Given the description of an element on the screen output the (x, y) to click on. 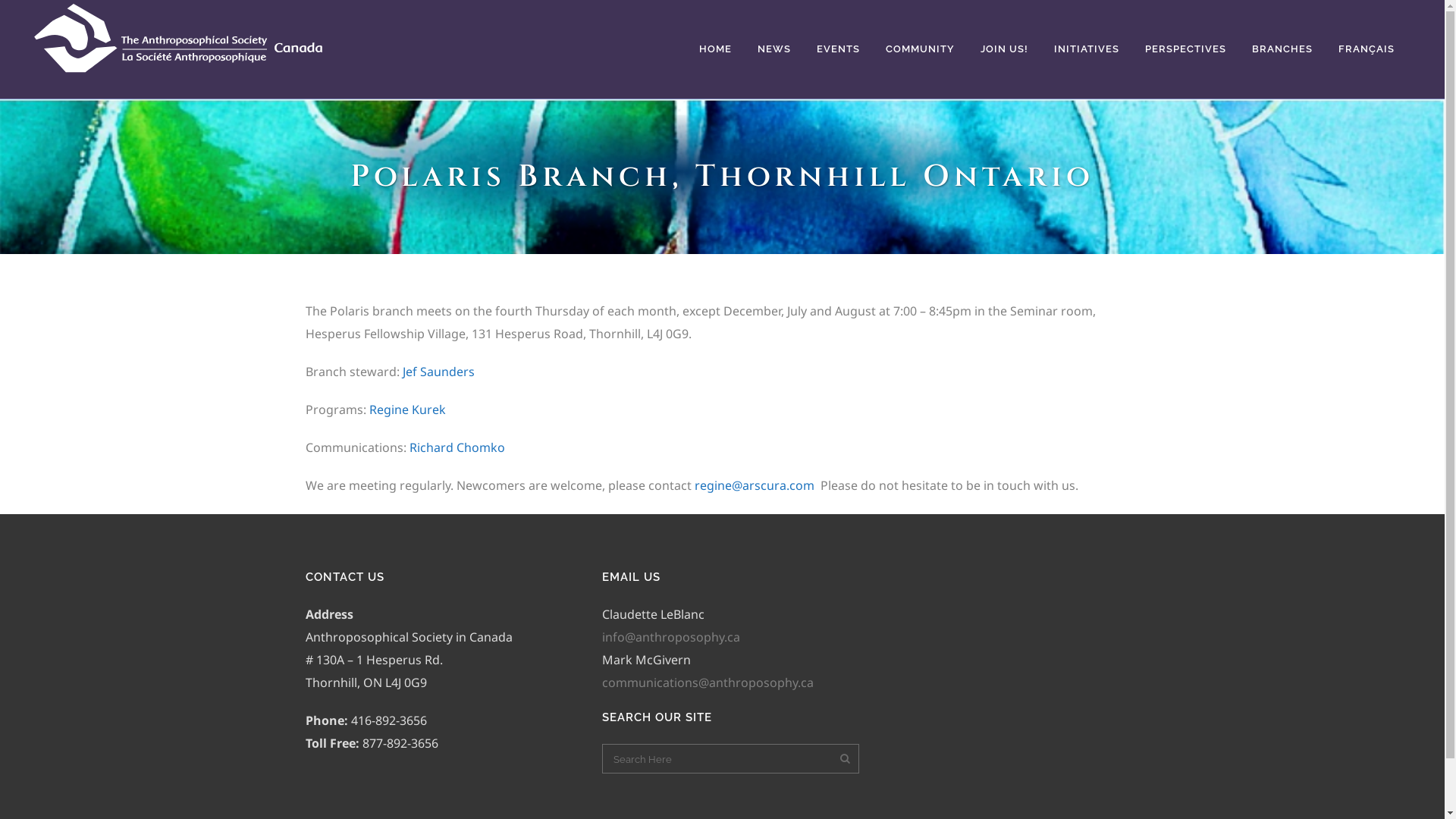
regine@arscura.com Element type: text (754, 484)
EVENTS Element type: text (837, 49)
Jef Saunders Element type: text (437, 371)
communications@anthroposophy.ca Element type: text (707, 682)
NEWS Element type: text (773, 49)
HOME Element type: text (715, 49)
info@anthroposophy.ca Element type: text (671, 636)
Regine Kurek Element type: text (406, 409)
BRANCHES Element type: text (1282, 49)
Richard Chomko Element type: text (457, 447)
COMMUNITY Element type: text (919, 49)
PERSPECTIVES Element type: text (1185, 49)
JOIN US! Element type: text (1004, 49)
INITIATIVES Element type: text (1086, 49)
